Given the description of an element on the screen output the (x, y) to click on. 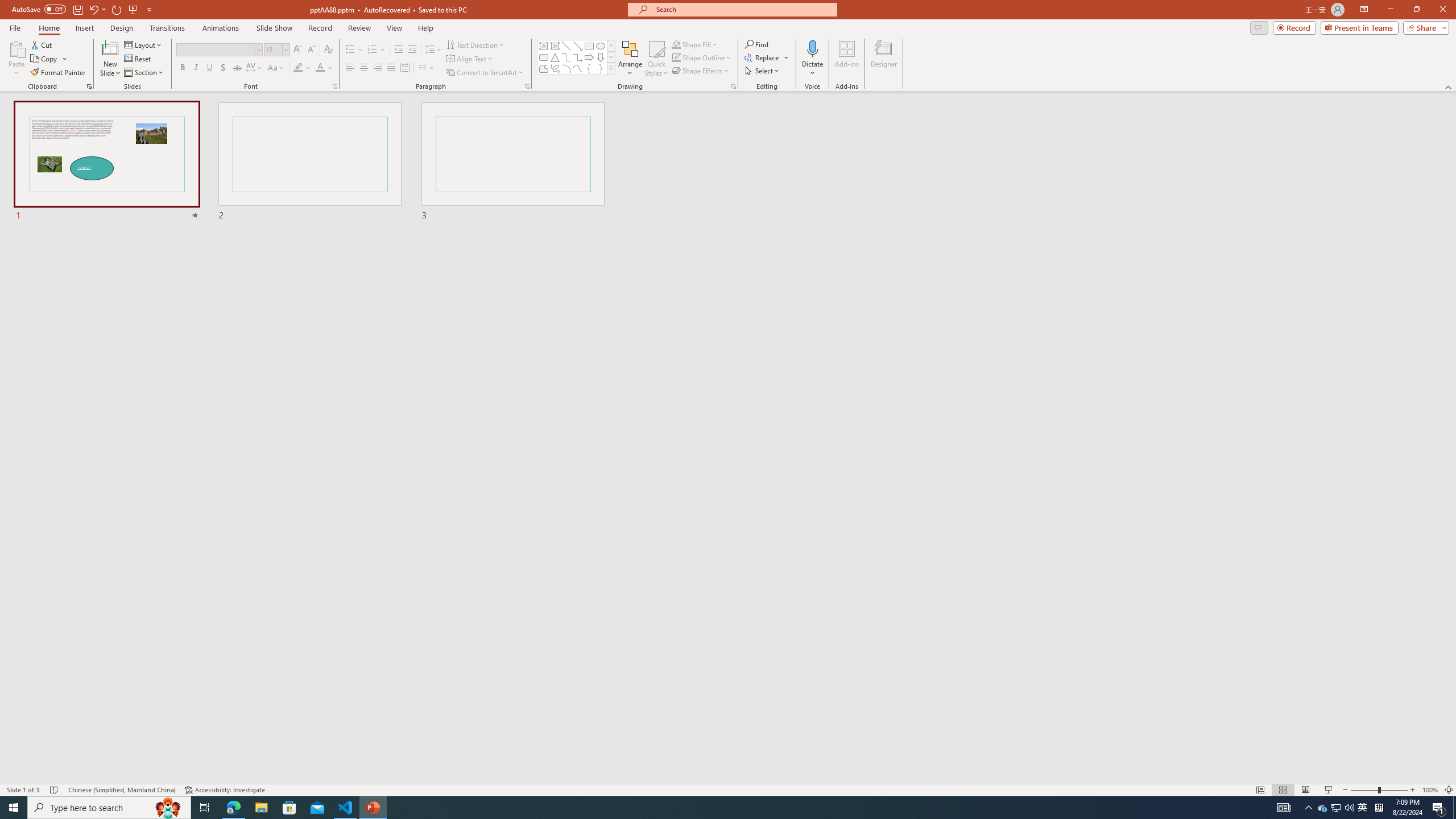
Underline (209, 67)
View (395, 28)
Distributed (404, 67)
Font Color Red (320, 67)
Left Brace (589, 68)
Dictate (812, 48)
Rectangle (589, 45)
Copy (49, 58)
Align Text (470, 58)
Change Case (276, 67)
Font Size (276, 49)
Decrease Font Size (310, 49)
Reset (138, 58)
New Slide (110, 58)
Isosceles Triangle (554, 57)
